Given the description of an element on the screen output the (x, y) to click on. 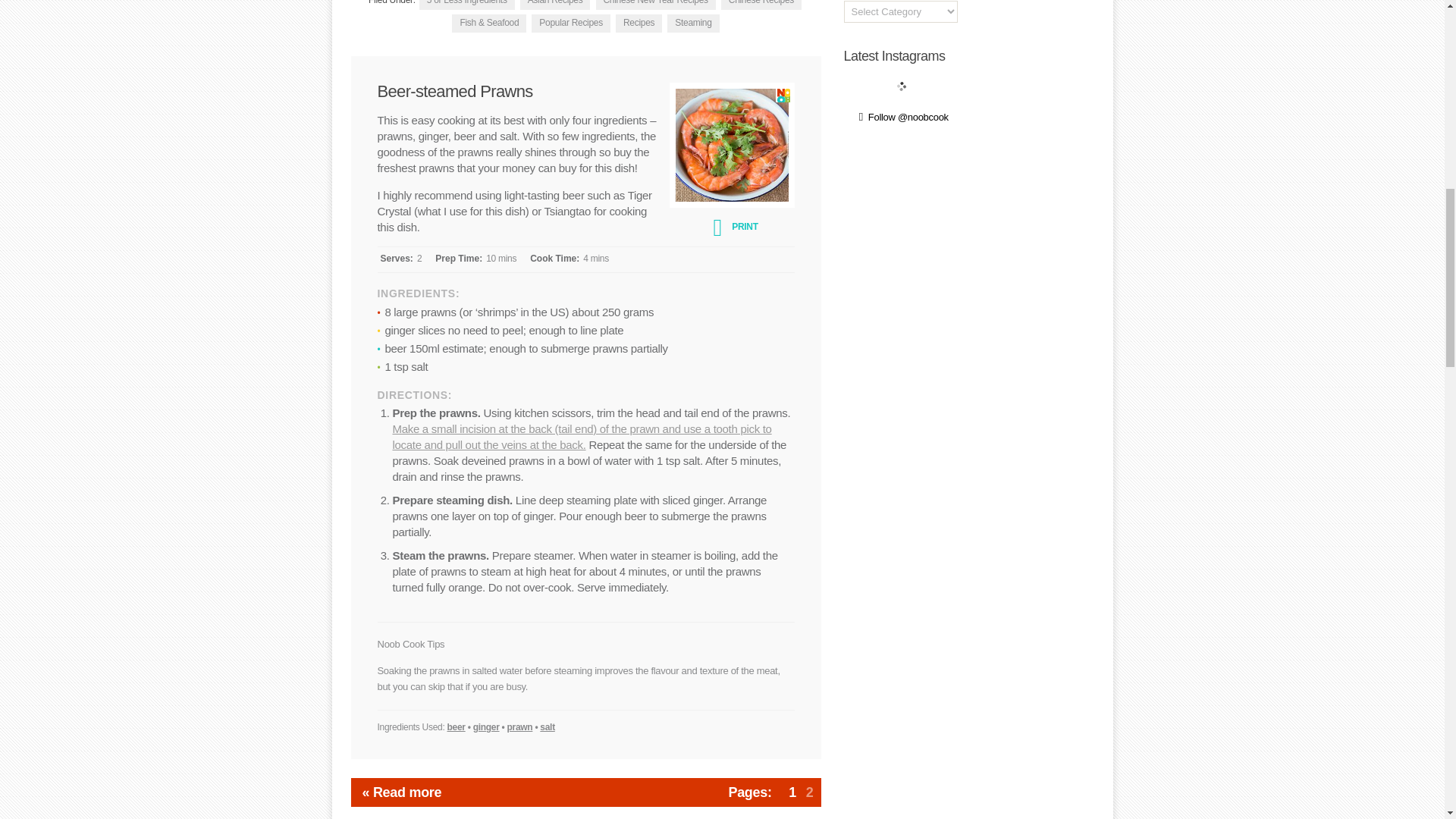
5 or Less Ingredients (467, 4)
Print Recipe (731, 226)
Chinese Recipes (761, 4)
Recipes (638, 23)
Asian Recipes (555, 4)
Chinese New Year Recipes (655, 4)
Popular Recipes (570, 23)
